Given the description of an element on the screen output the (x, y) to click on. 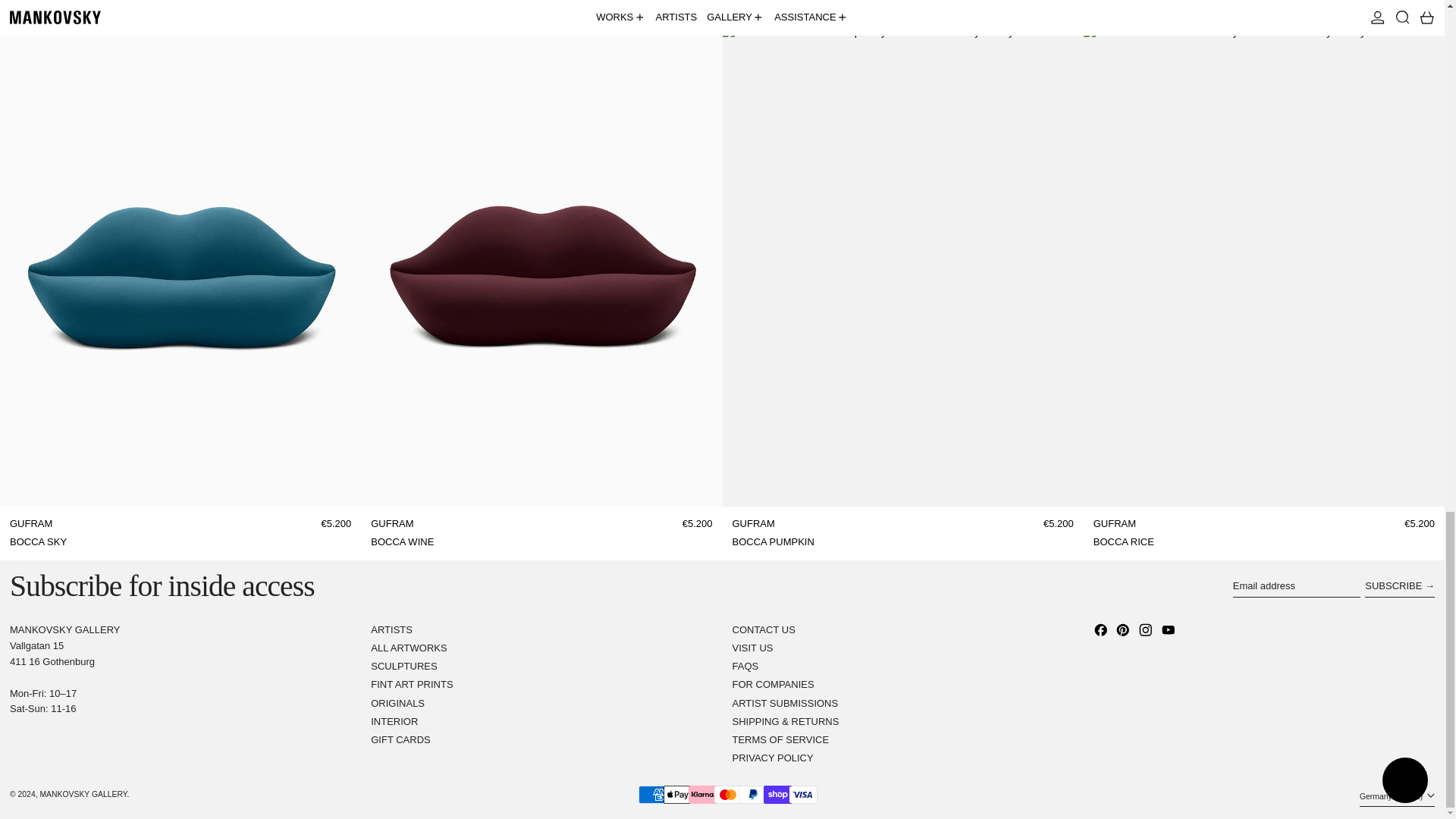
ARTISTS (391, 629)
SCULPTURES (403, 665)
ALL ARTWORKS (408, 647)
SUBSCRIBE (1399, 586)
